Given the description of an element on the screen output the (x, y) to click on. 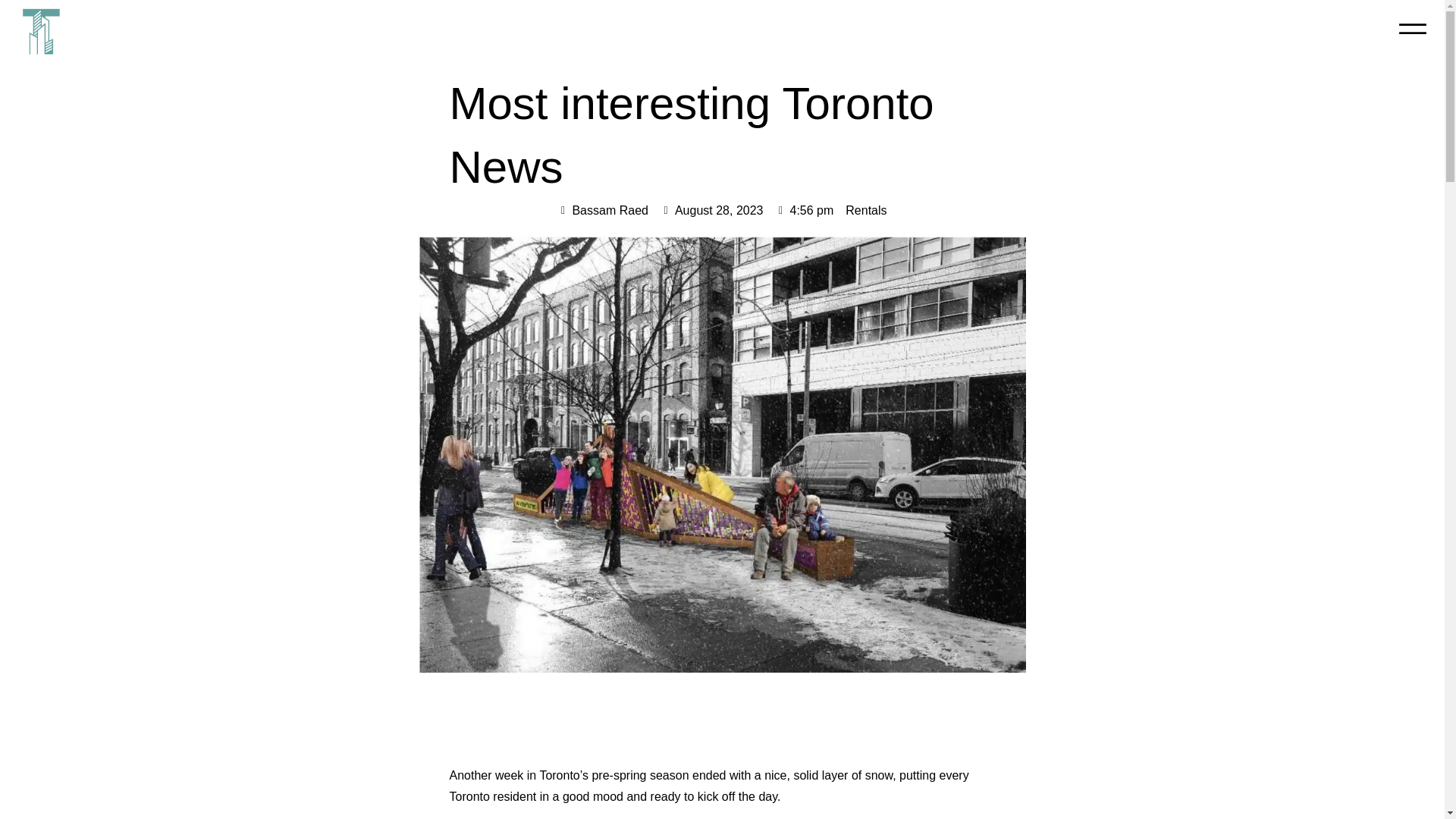
August 28, 2023 (711, 210)
Rentals (865, 210)
Bassam Raed (602, 210)
solid layer of snow (842, 775)
